Given the description of an element on the screen output the (x, y) to click on. 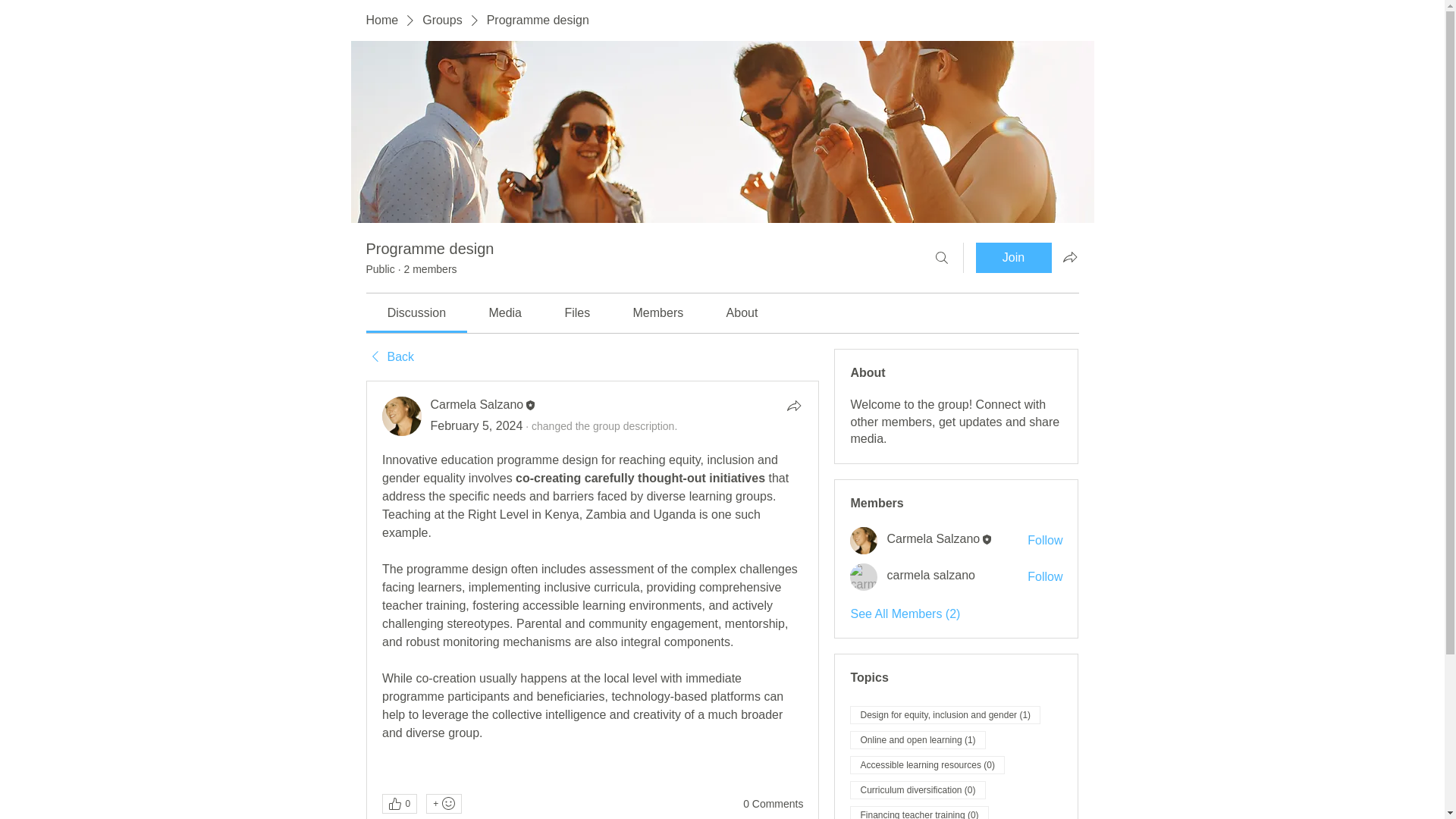
February 5, 2024 (476, 425)
Carmela Salzano (932, 538)
Groups (441, 20)
carmela salzano (930, 575)
Carmela Salzano (477, 404)
0 Comments (772, 804)
Join (1013, 257)
carmela salzano (863, 576)
Follow (1044, 540)
Carmela Salzano (863, 540)
